Given the description of an element on the screen output the (x, y) to click on. 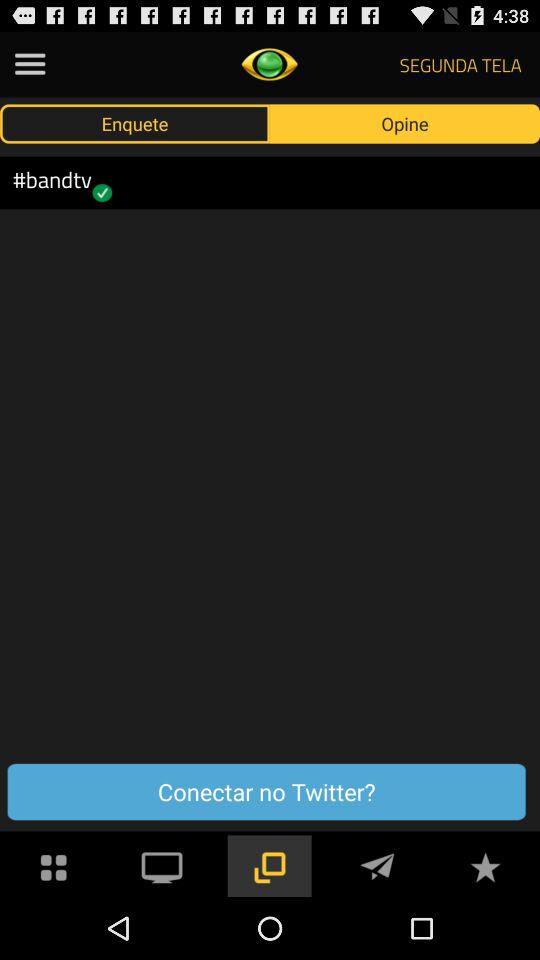
scroll to the enquete item (135, 123)
